Given the description of an element on the screen output the (x, y) to click on. 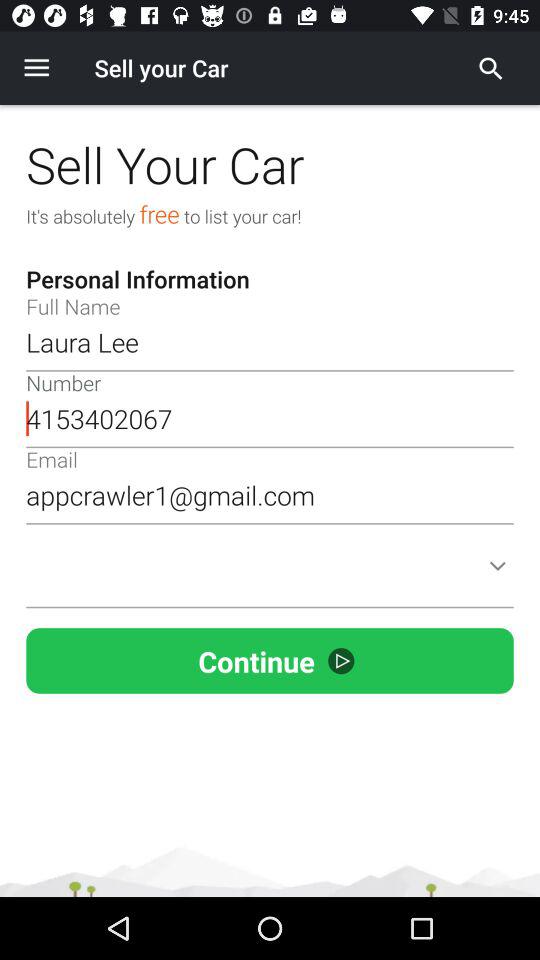
drop down menu (269, 578)
